Given the description of an element on the screen output the (x, y) to click on. 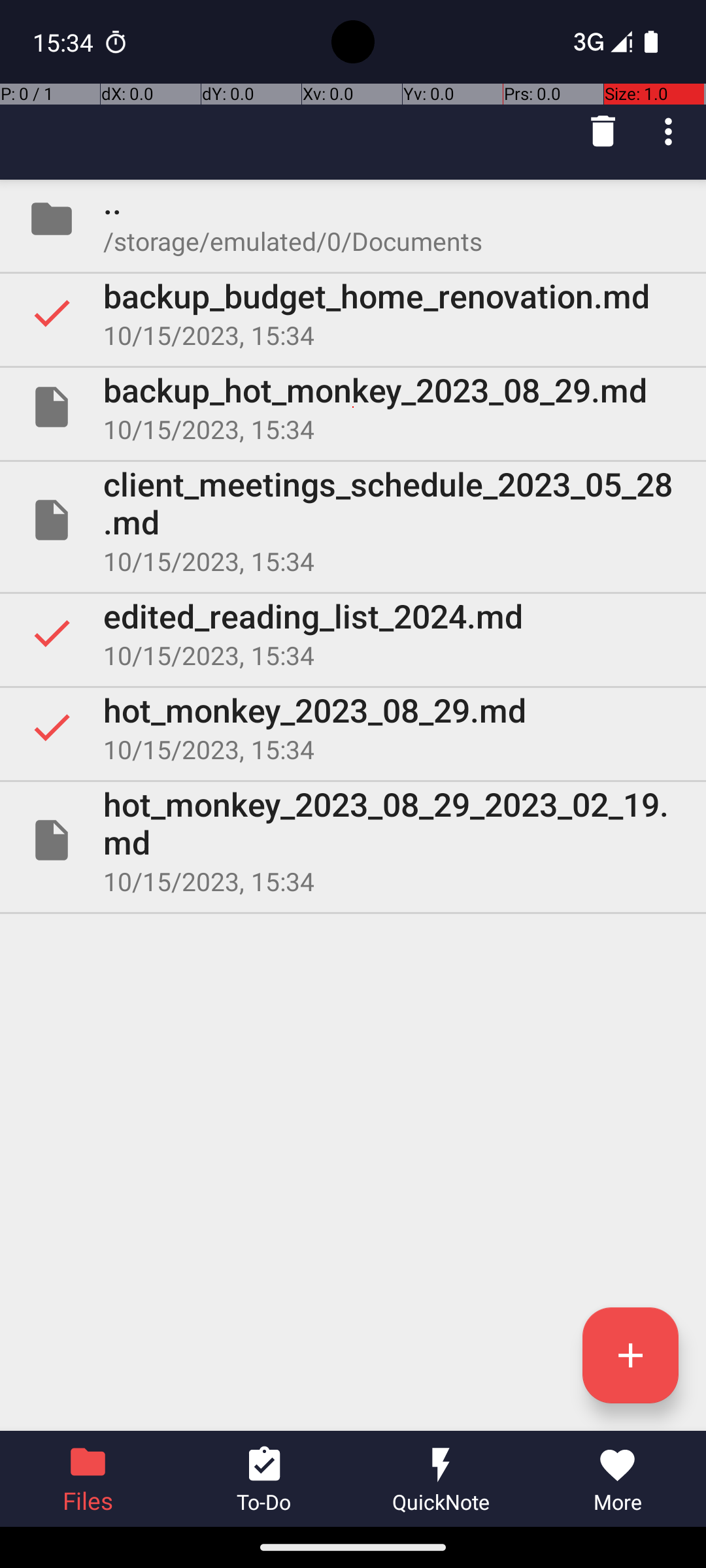
Selected backup_budget_home_renovation.md 10/15/2023, 15:34 Element type: android.widget.LinearLayout (353, 312)
File backup_hot_monkey_2023_08_29.md 10/15/2023, 15:34 Element type: android.widget.LinearLayout (353, 406)
File client_meetings_schedule_2023_05_28.md  Element type: android.widget.LinearLayout (353, 519)
Selected edited_reading_list_2024.md 10/15/2023, 15:34 Element type: android.widget.LinearLayout (353, 632)
Selected hot_monkey_2023_08_29.md 10/15/2023, 15:34 Element type: android.widget.LinearLayout (353, 726)
File hot_monkey_2023_08_29_2023_02_19.md  Element type: android.widget.LinearLayout (353, 840)
